Given the description of an element on the screen output the (x, y) to click on. 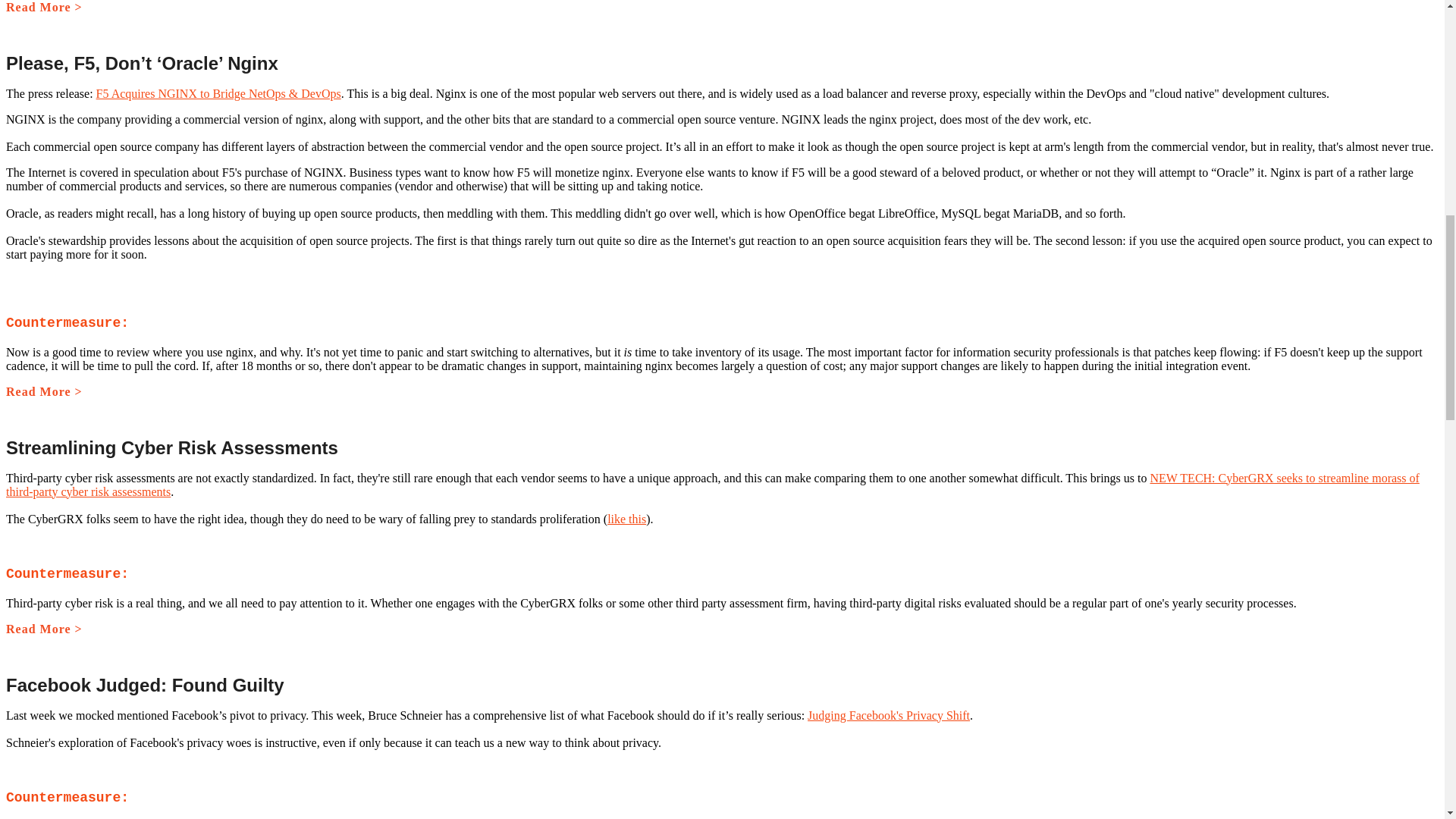
Judging Facebook's Privacy Shift (888, 715)
like this (626, 518)
